Given the description of an element on the screen output the (x, y) to click on. 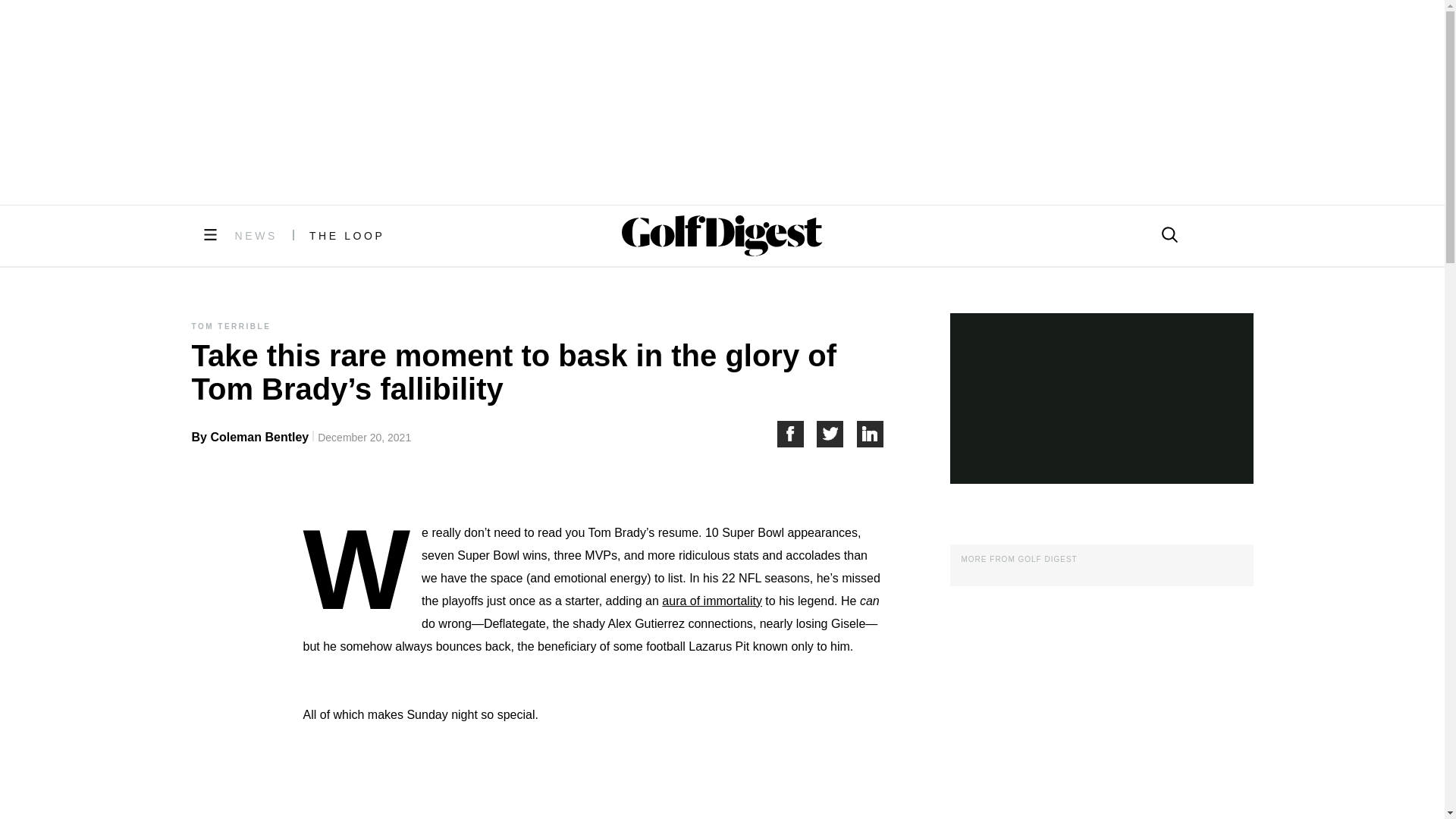
NEWS (256, 235)
THE LOOP (346, 235)
Share on Twitter (836, 433)
Share on Facebook (796, 433)
Share on LinkedIn (870, 433)
